Given the description of an element on the screen output the (x, y) to click on. 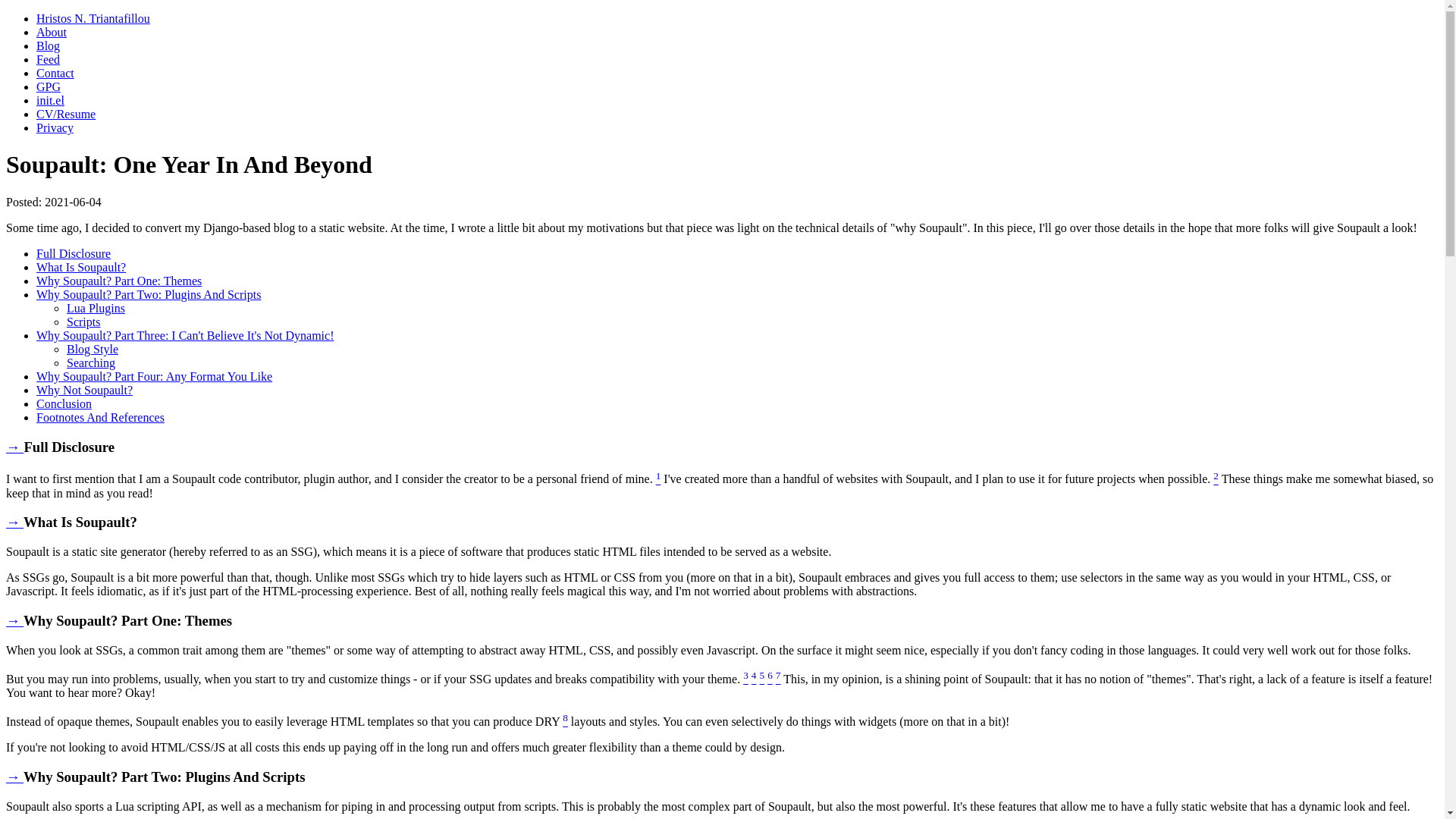
Blog (47, 45)
Why Soupault? Part One: Themes (119, 280)
Why Not Soupault? (84, 390)
init.el (50, 100)
Feed (47, 59)
Lua Plugins (95, 308)
GPG (48, 86)
About (51, 31)
Conclusion (63, 403)
Full Disclosure (73, 253)
Contact (55, 72)
Footnotes And References (100, 417)
Searching (90, 362)
Blog Style (91, 349)
Hristos N. Triantafillou (92, 18)
